Given the description of an element on the screen output the (x, y) to click on. 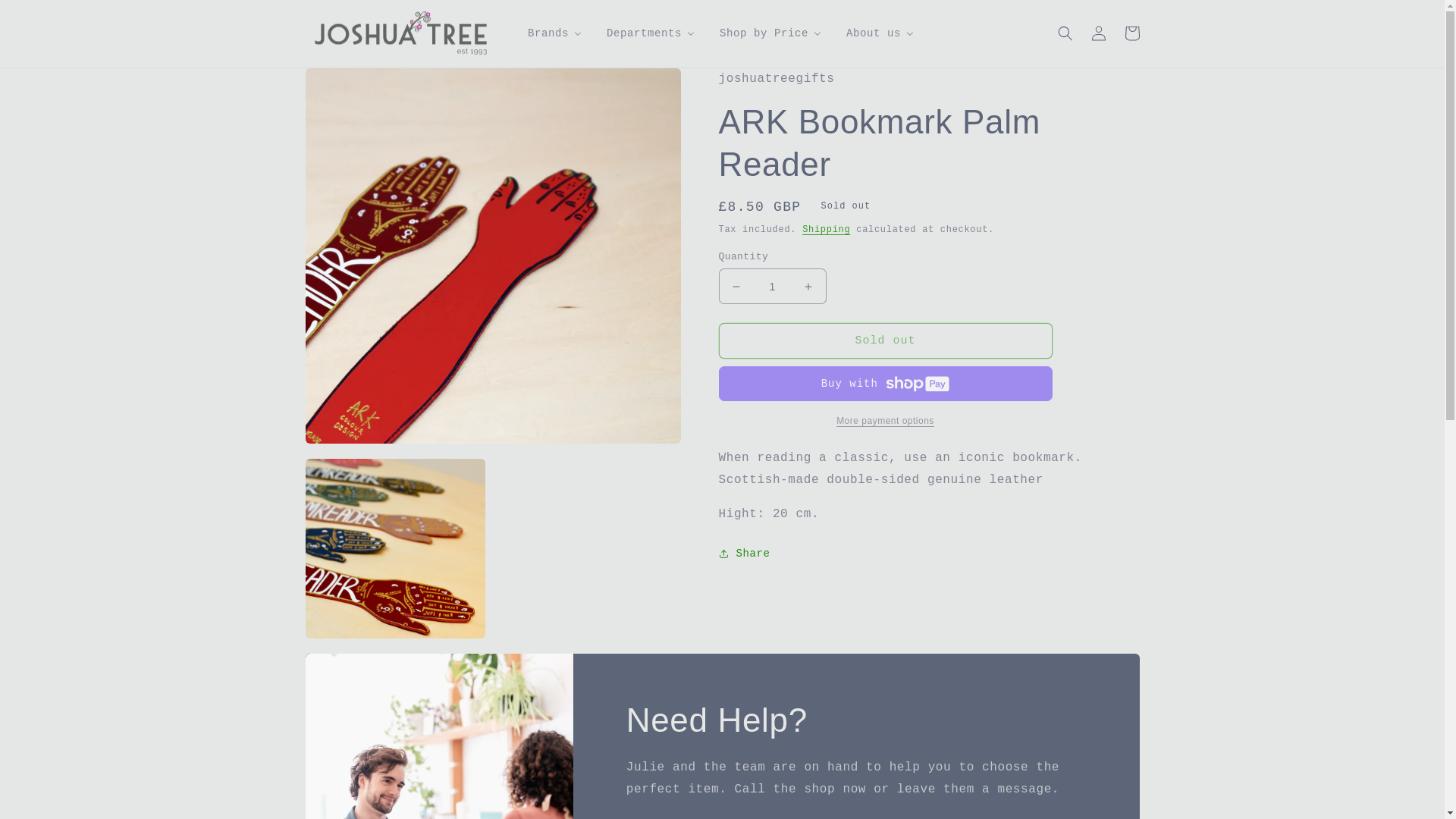
Skip to content (45, 17)
Brands (554, 33)
1 (773, 285)
